Given the description of an element on the screen output the (x, y) to click on. 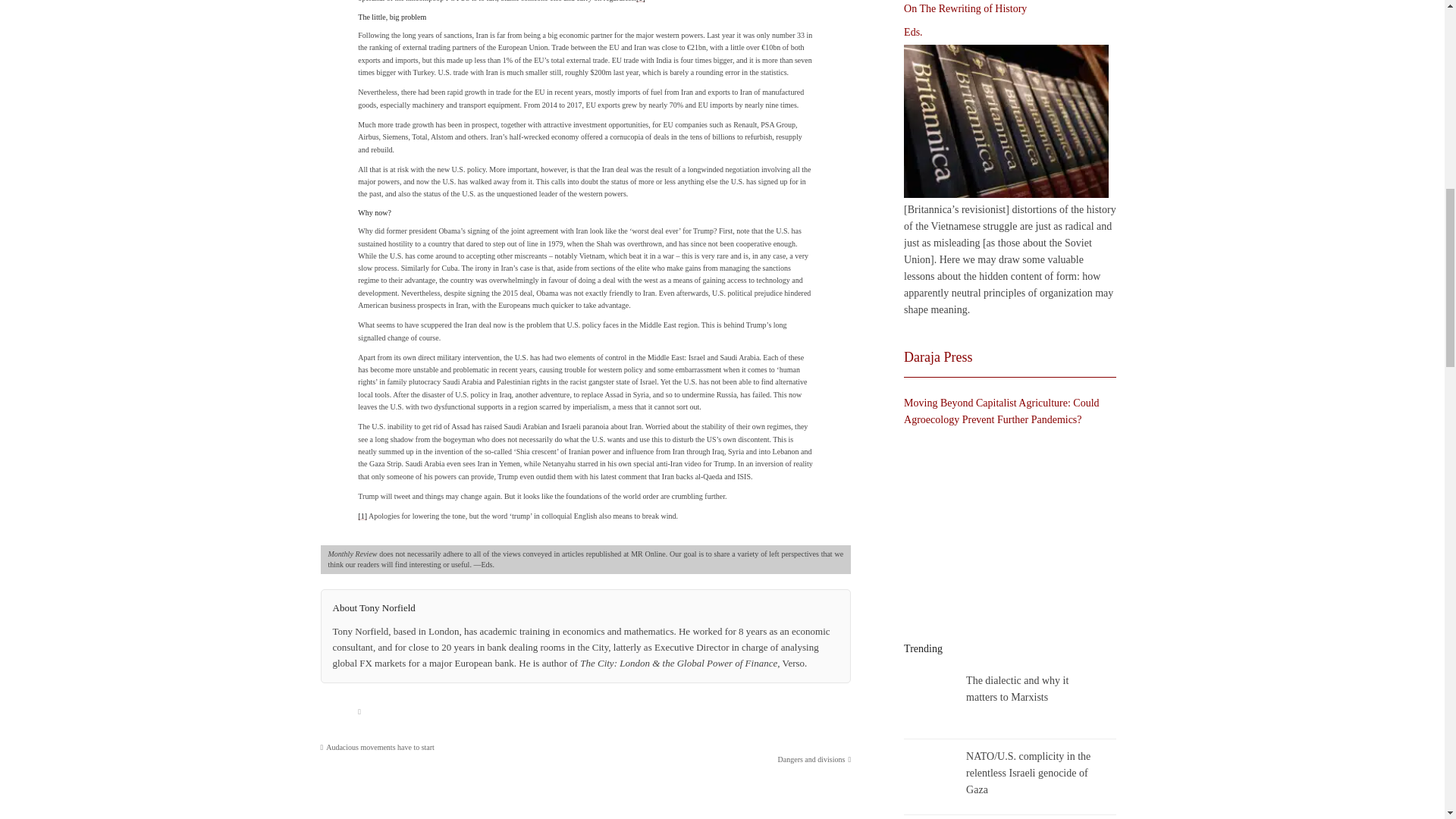
Posts by Eds. (913, 32)
On The Rewriting of History (1006, 121)
